Given the description of an element on the screen output the (x, y) to click on. 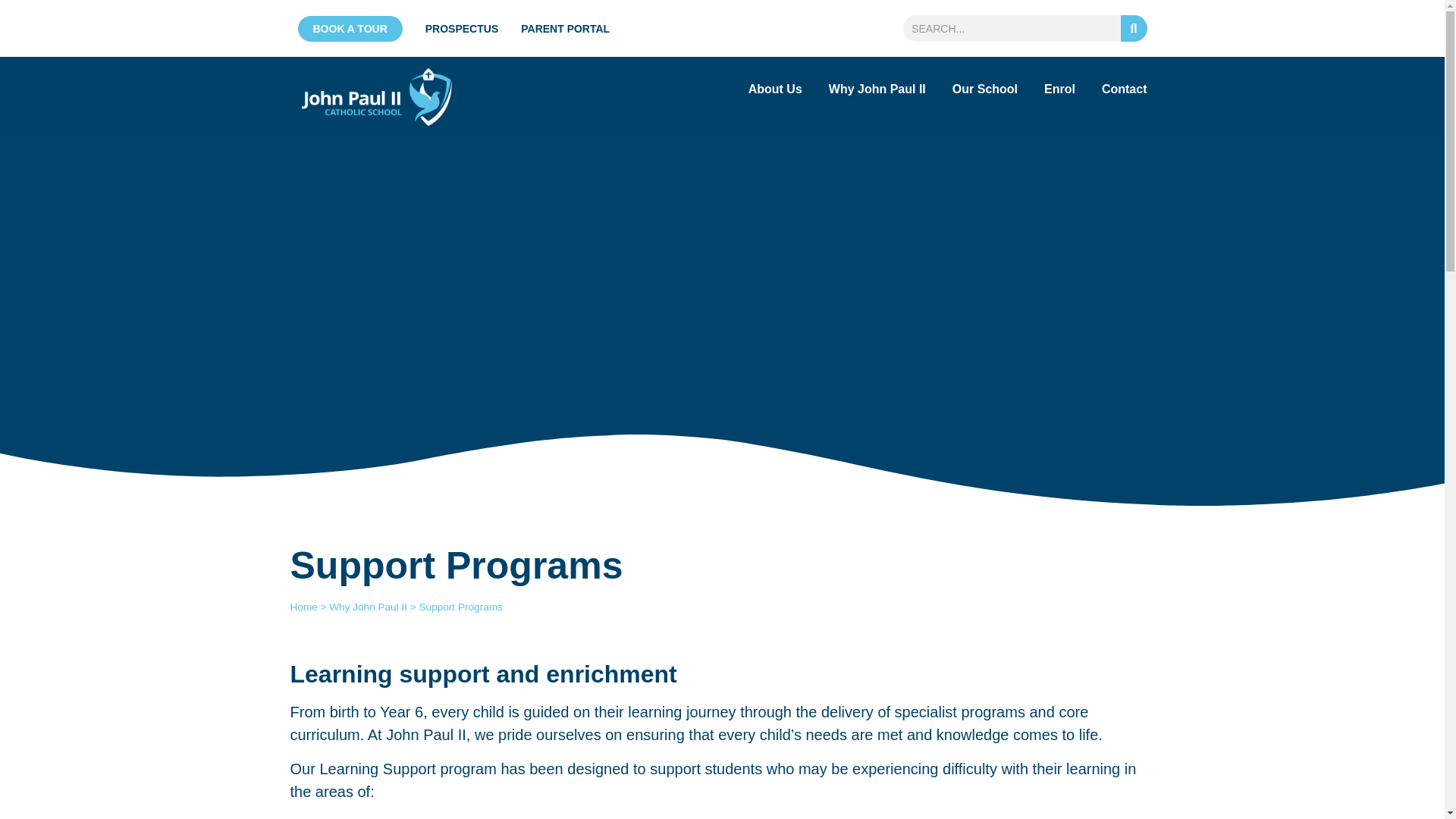
PARENT PORTAL (565, 28)
Why John Paul II (877, 69)
About Us (775, 40)
BOOK A TOUR (349, 27)
Enrol (1059, 85)
PROSPECTUS (461, 28)
Our School (984, 78)
Contact (1124, 88)
